Given the description of an element on the screen output the (x, y) to click on. 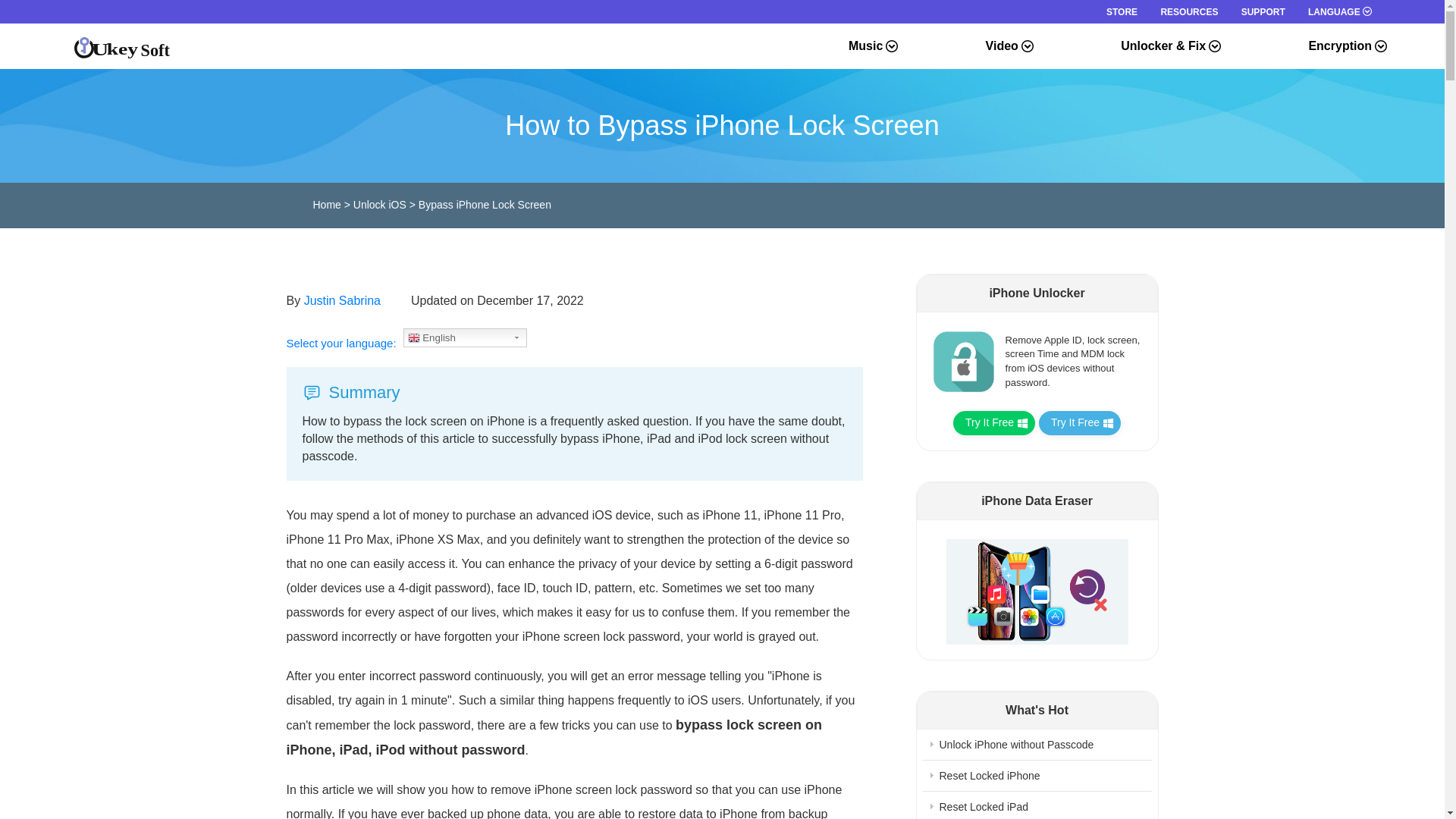
LANGUAGE (1339, 10)
RESOURCES (1188, 10)
STORE (1121, 10)
SUPPORT (1263, 10)
